Given the description of an element on the screen output the (x, y) to click on. 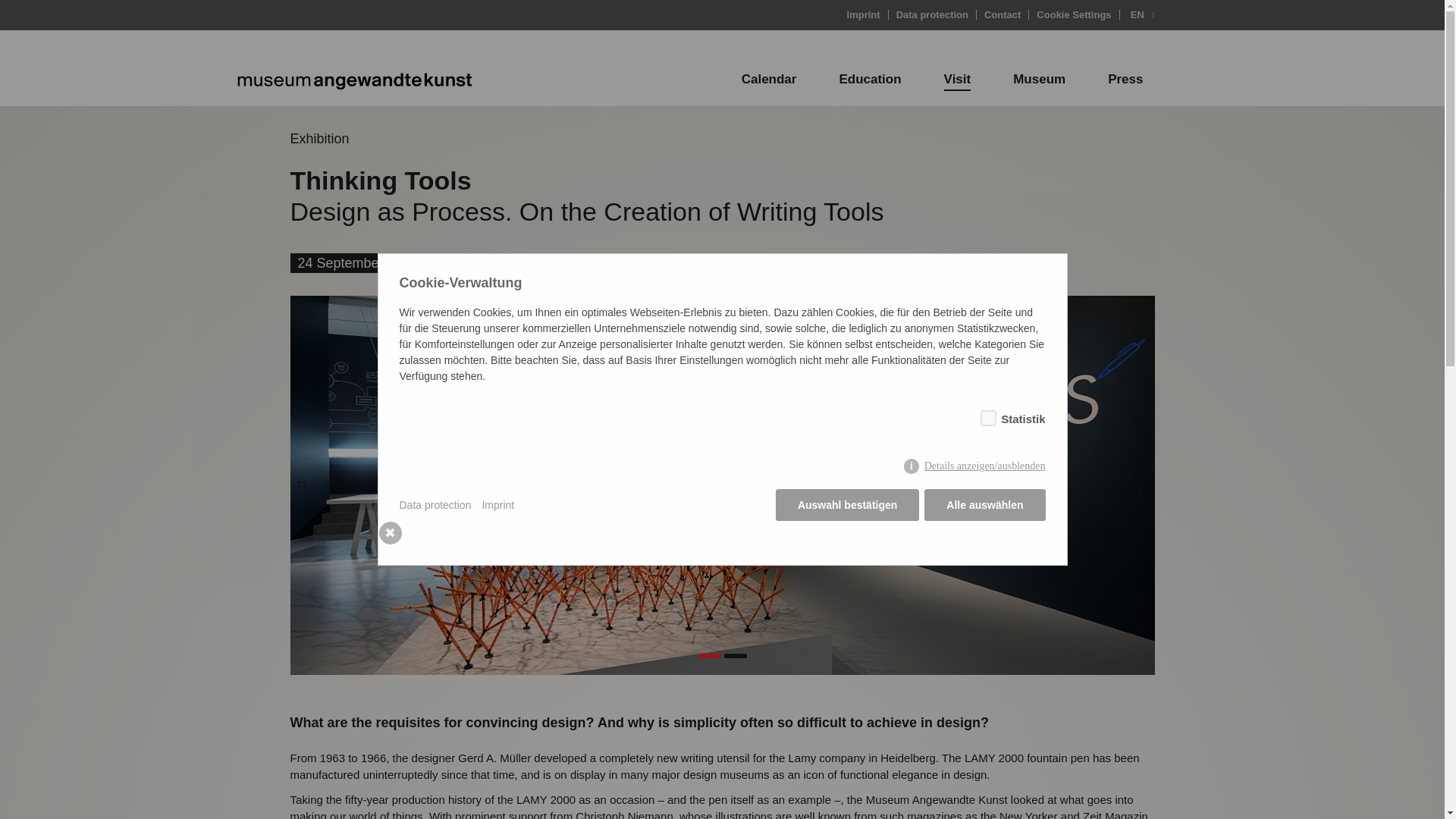
Calendar (769, 79)
Cookie Settings (1074, 14)
on (984, 415)
Contact (1002, 14)
Museum (1039, 79)
Imprint (864, 14)
Press (1125, 79)
EN (1138, 14)
museum (348, 79)
Education (869, 79)
Data protection (932, 14)
Visit (957, 79)
